Given the description of an element on the screen output the (x, y) to click on. 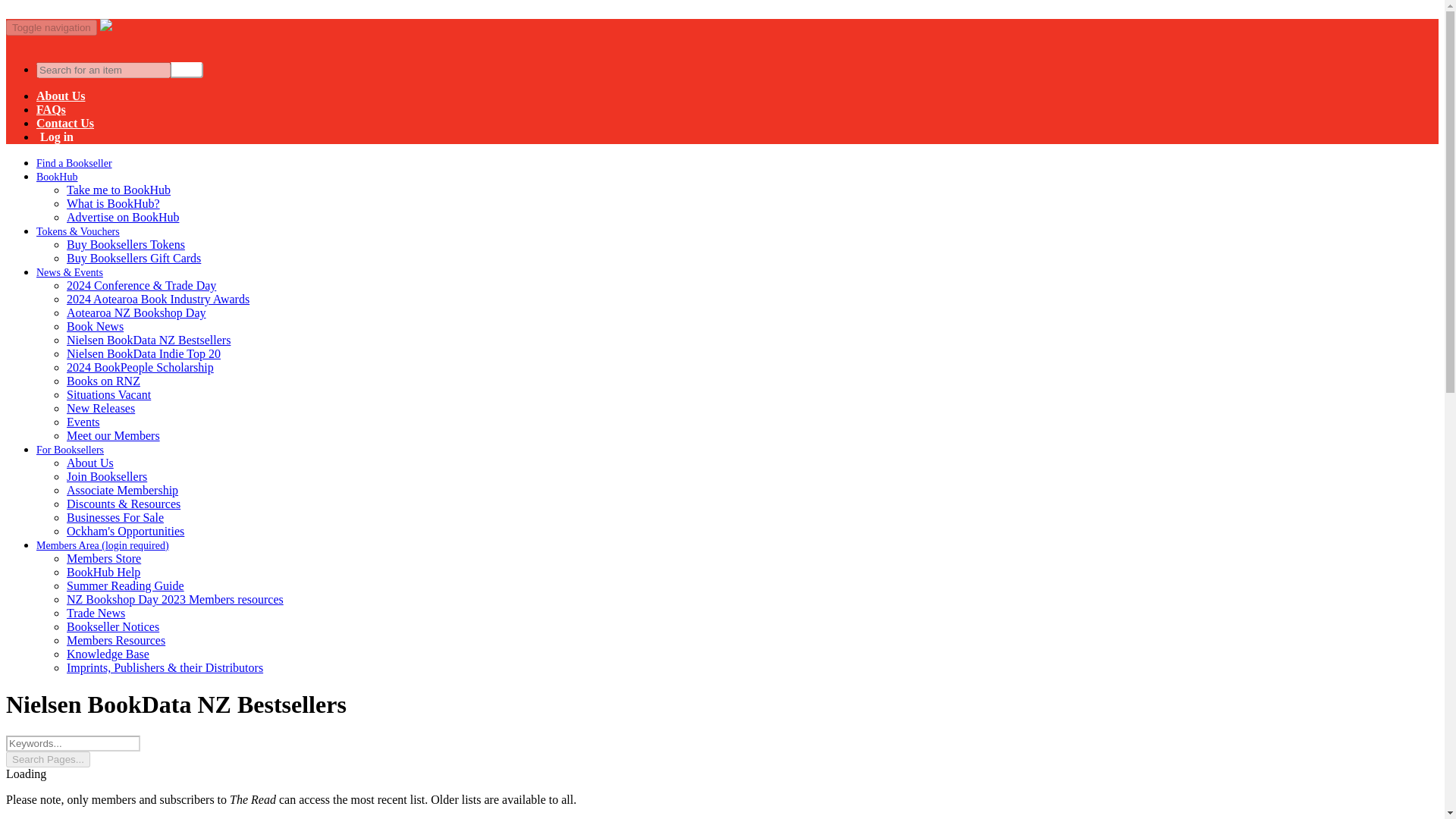
About Us (89, 462)
Businesses For Sale (114, 517)
BookHub (56, 176)
Nielsen BookData NZ Bestsellers (148, 339)
Summer Reading Guide (125, 585)
Take me to BookHub (118, 189)
BookHub Help (102, 571)
2024 BookPeople Scholarship (140, 367)
FAQs (50, 109)
For Booksellers (69, 449)
Nielsen BookData Indie Top 20 (143, 353)
Meet our Members (113, 435)
Ockham's Opportunities (125, 530)
2024 Aotearoa Book Industry Awards (157, 298)
Aotearoa NZ Bookshop Day (136, 312)
